Given the description of an element on the screen output the (x, y) to click on. 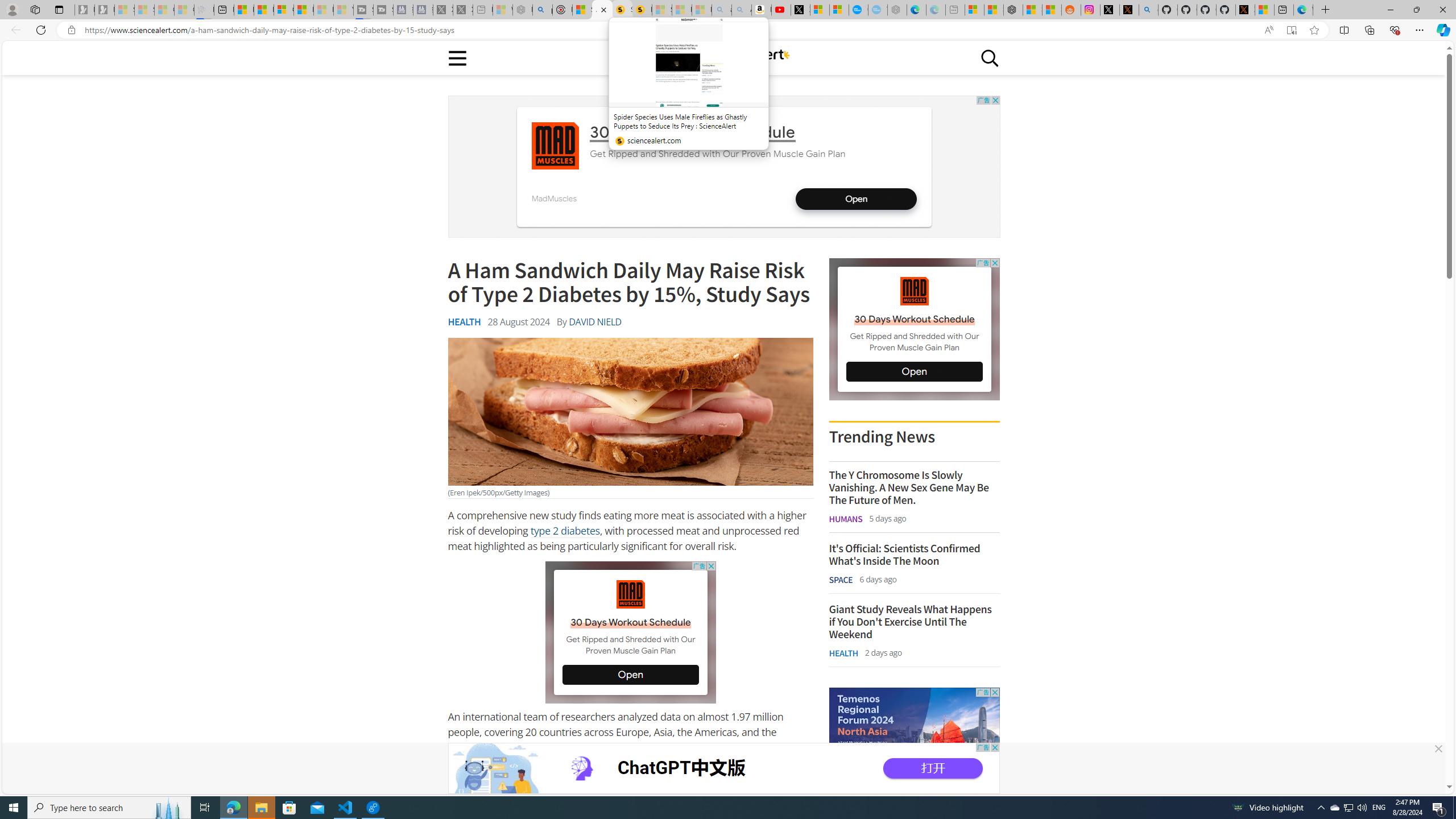
The most popular Google 'how to' searches - Sleeping (877, 9)
SPACE (840, 579)
Class: sciencealert-menu-desktop-svg  (456, 57)
Class: sciencealert-logo-desktop-svg  (723, 55)
Wildlife - MSN - Sleeping (501, 9)
Log in to X / X (1109, 9)
github - Search (1148, 9)
X - Sleeping (462, 9)
